Given the description of an element on the screen output the (x, y) to click on. 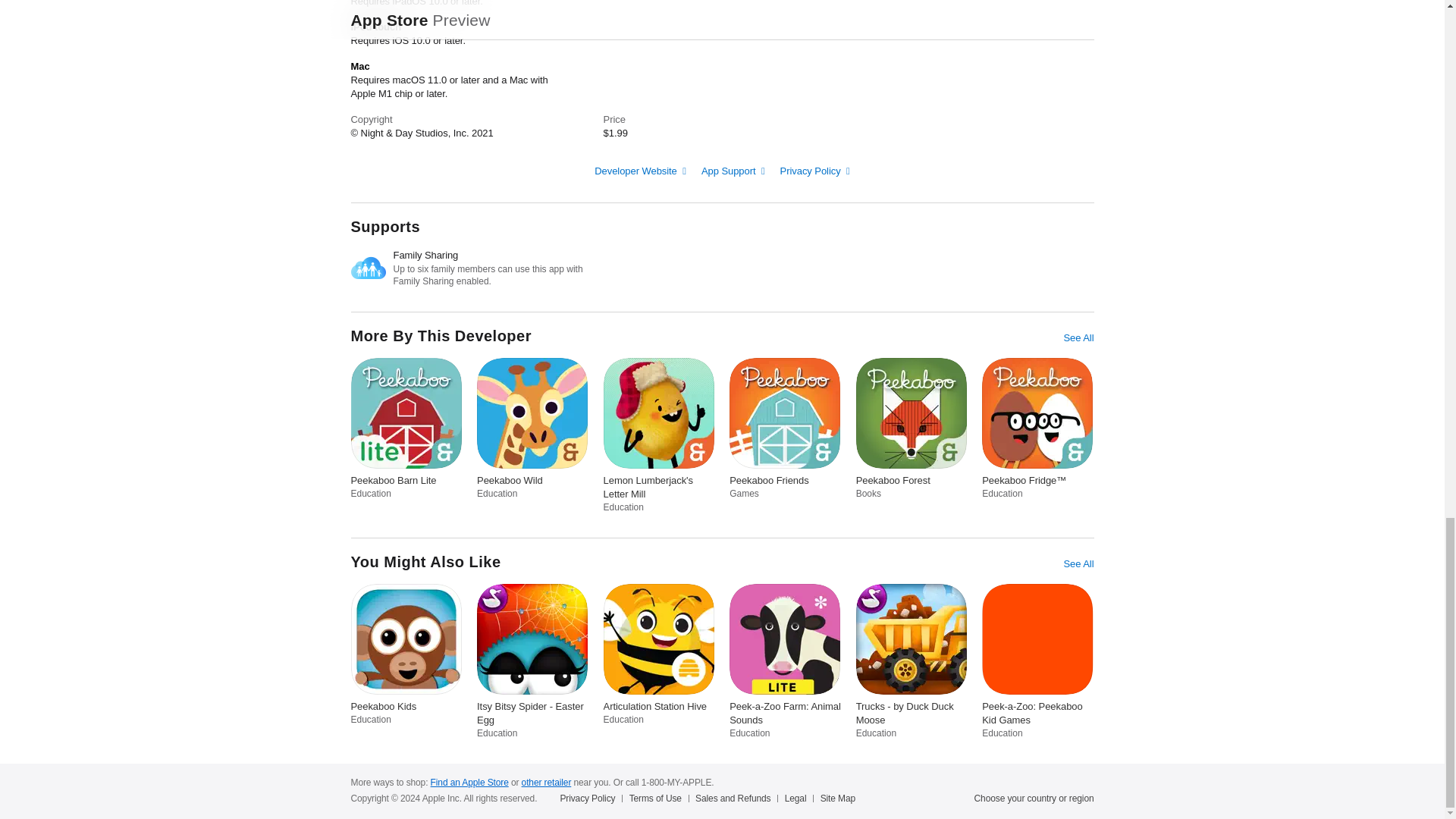
Choose your country or region (1034, 798)
App Support (733, 170)
Privacy Policy (815, 170)
Developer Website (639, 170)
